Given the description of an element on the screen output the (x, y) to click on. 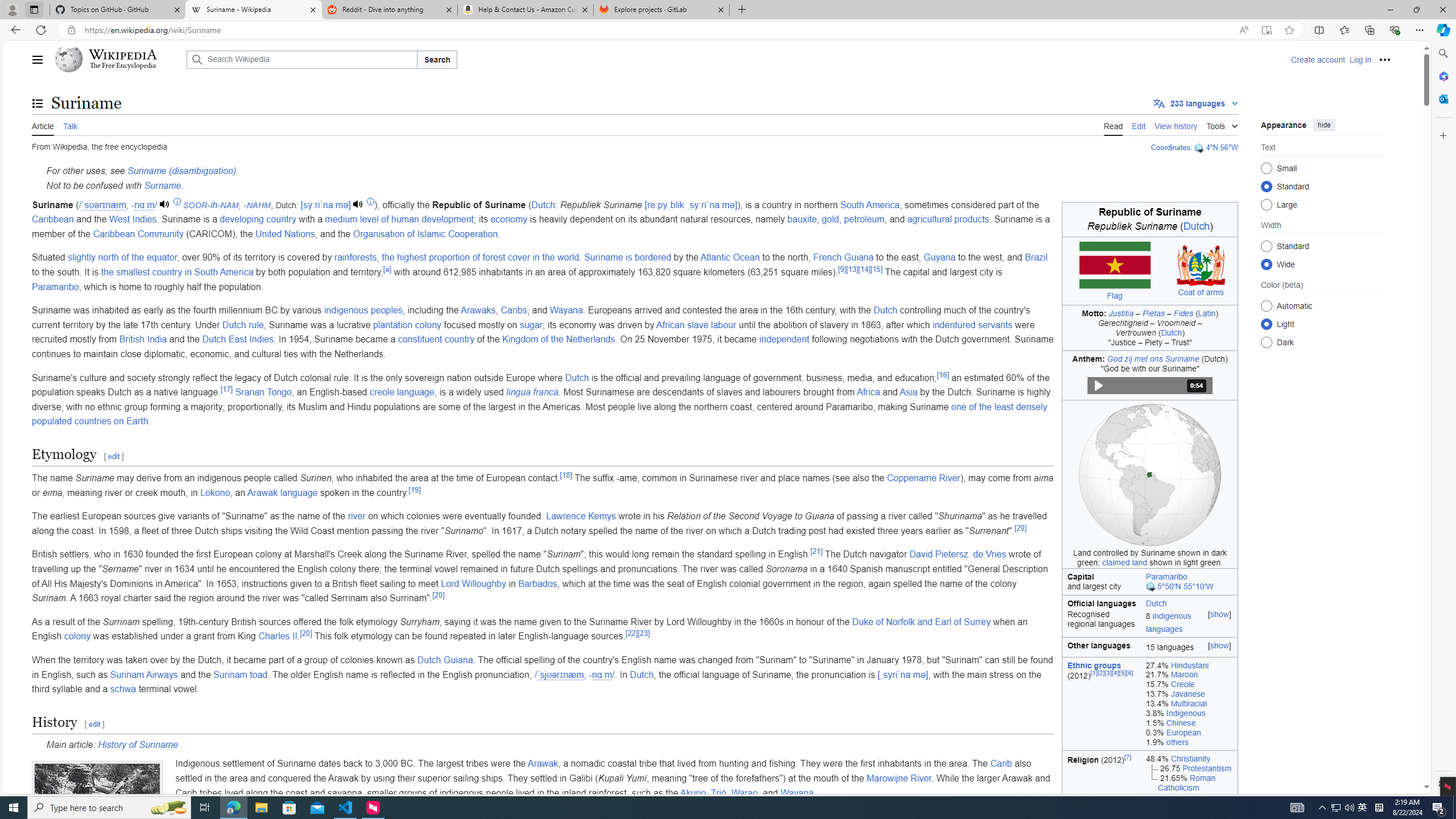
lingua franca (532, 392)
hide (1324, 124)
Main menu (37, 59)
Help & Contact Us - Amazon Customer Service (525, 9)
Arawak (543, 763)
[4] (1114, 672)
Automatic (1266, 305)
Flag of Suriname Flag Coat of arms of Suriname Coat of arms (1149, 270)
indigenous peoples (363, 310)
Organisation of Islamic Cooperation (424, 233)
Create account (1317, 58)
Play audio (359, 204)
